Given the description of an element on the screen output the (x, y) to click on. 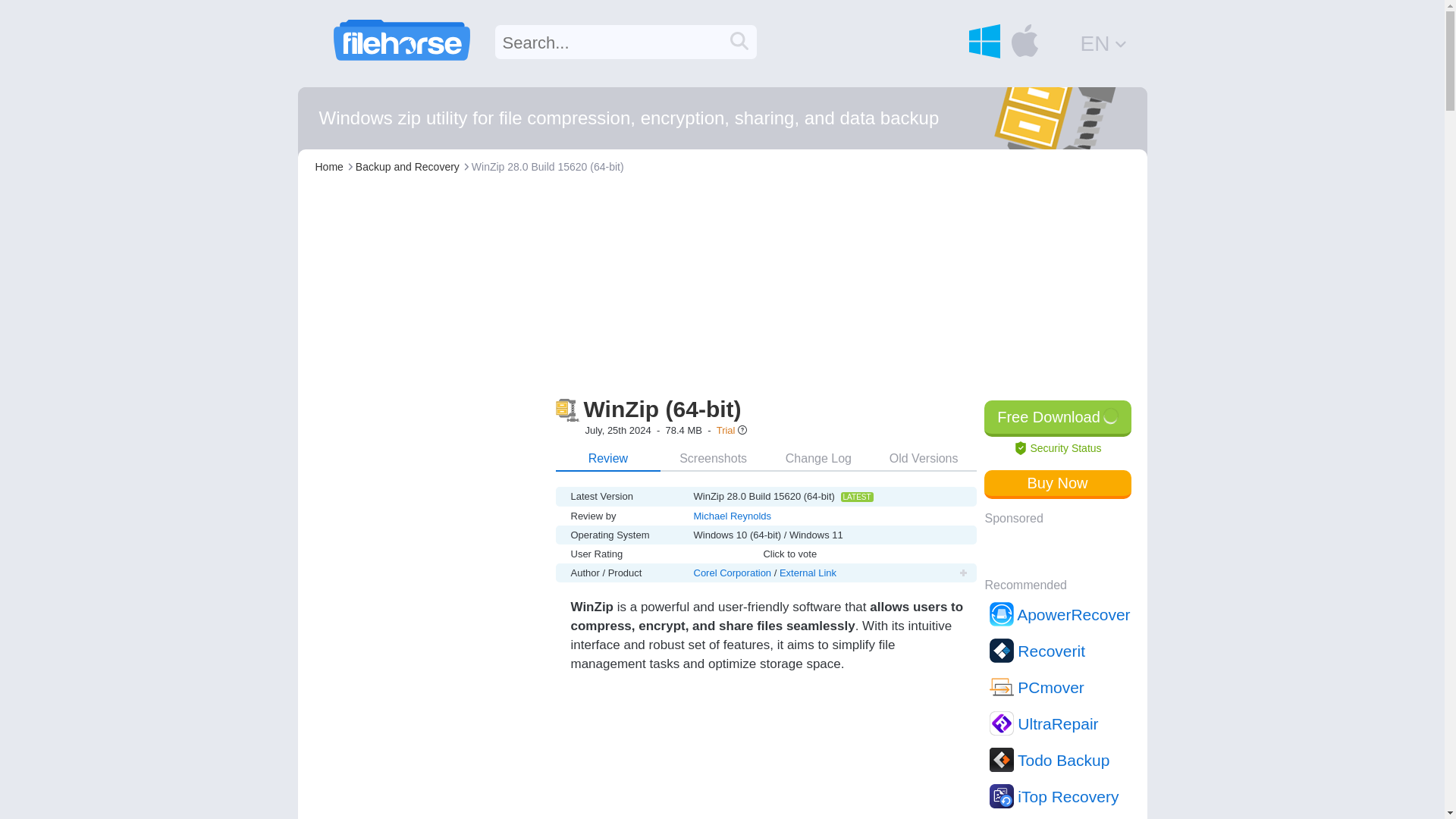
Backup and Recovery (407, 166)
Todo Backup (1059, 760)
ApowerRecover (1059, 614)
Recoverit (1059, 650)
EN (1103, 42)
PCmover (1059, 687)
Security Status (1056, 448)
English (1103, 42)
Buy Now (1057, 484)
Free Download (1057, 418)
